Given the description of an element on the screen output the (x, y) to click on. 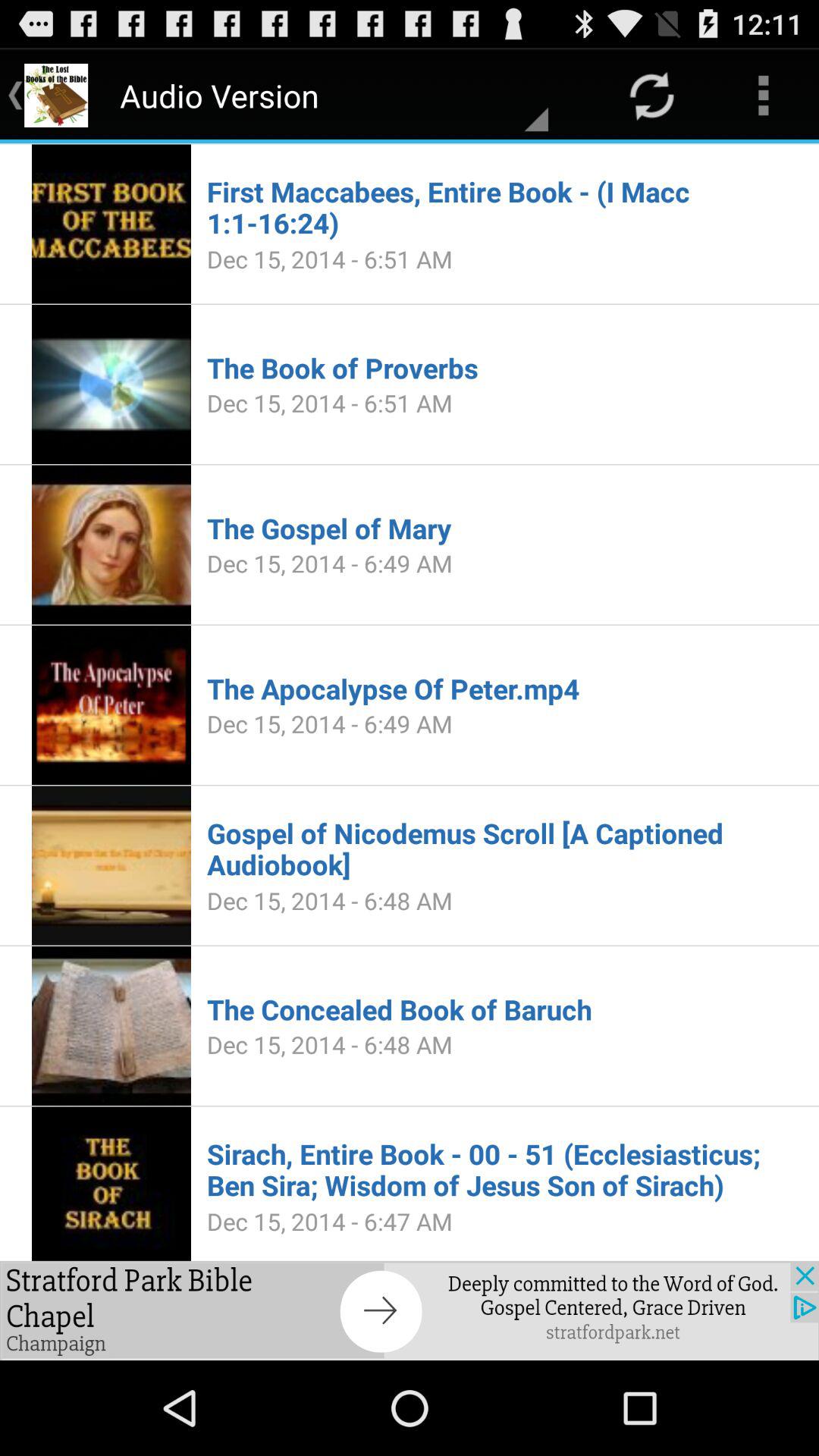
go to the first image (110, 224)
click on the image in fourth option from the top (110, 705)
